Given the description of an element on the screen output the (x, y) to click on. 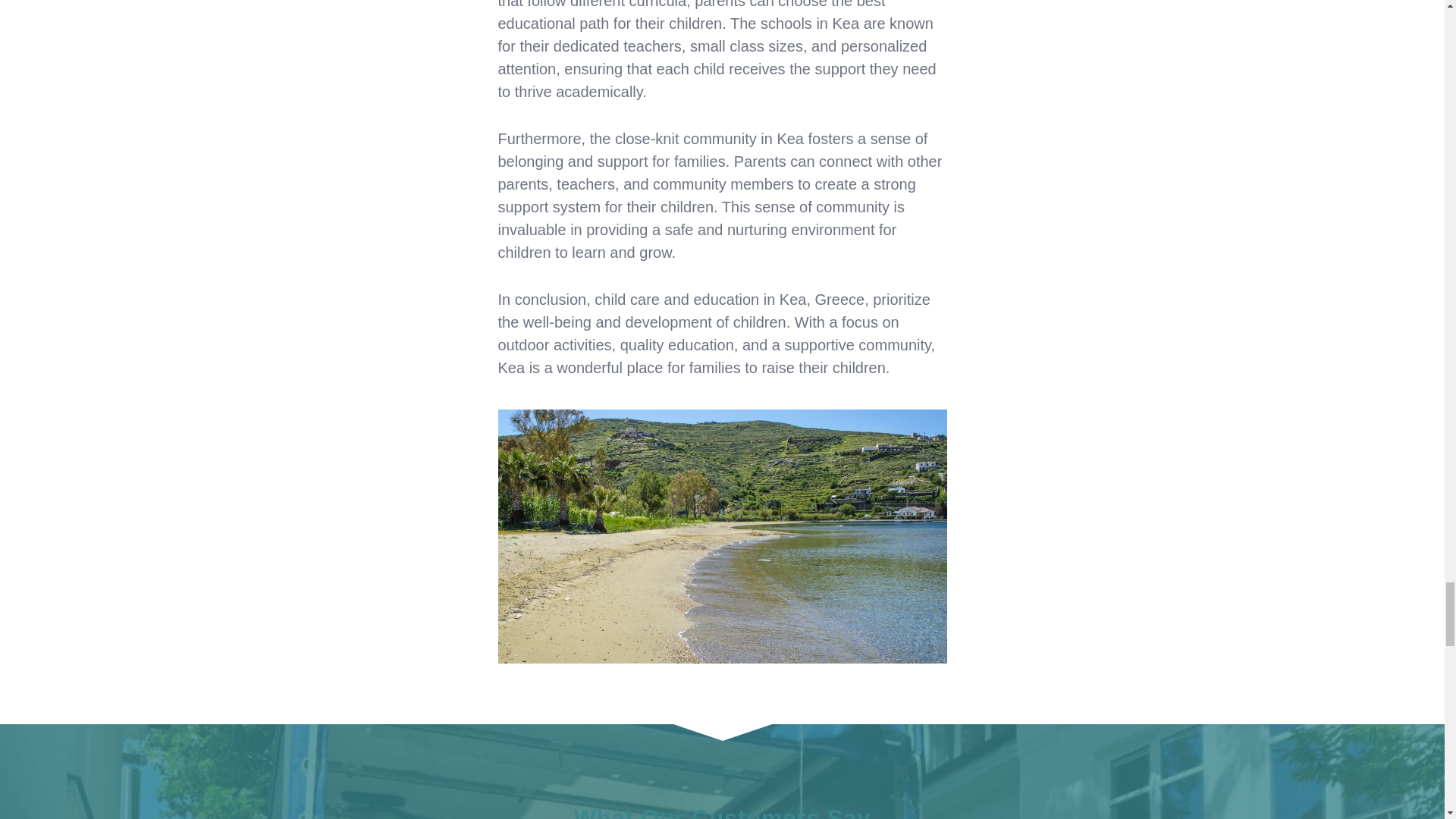
Kea beach view (721, 535)
